Given the description of an element on the screen output the (x, y) to click on. 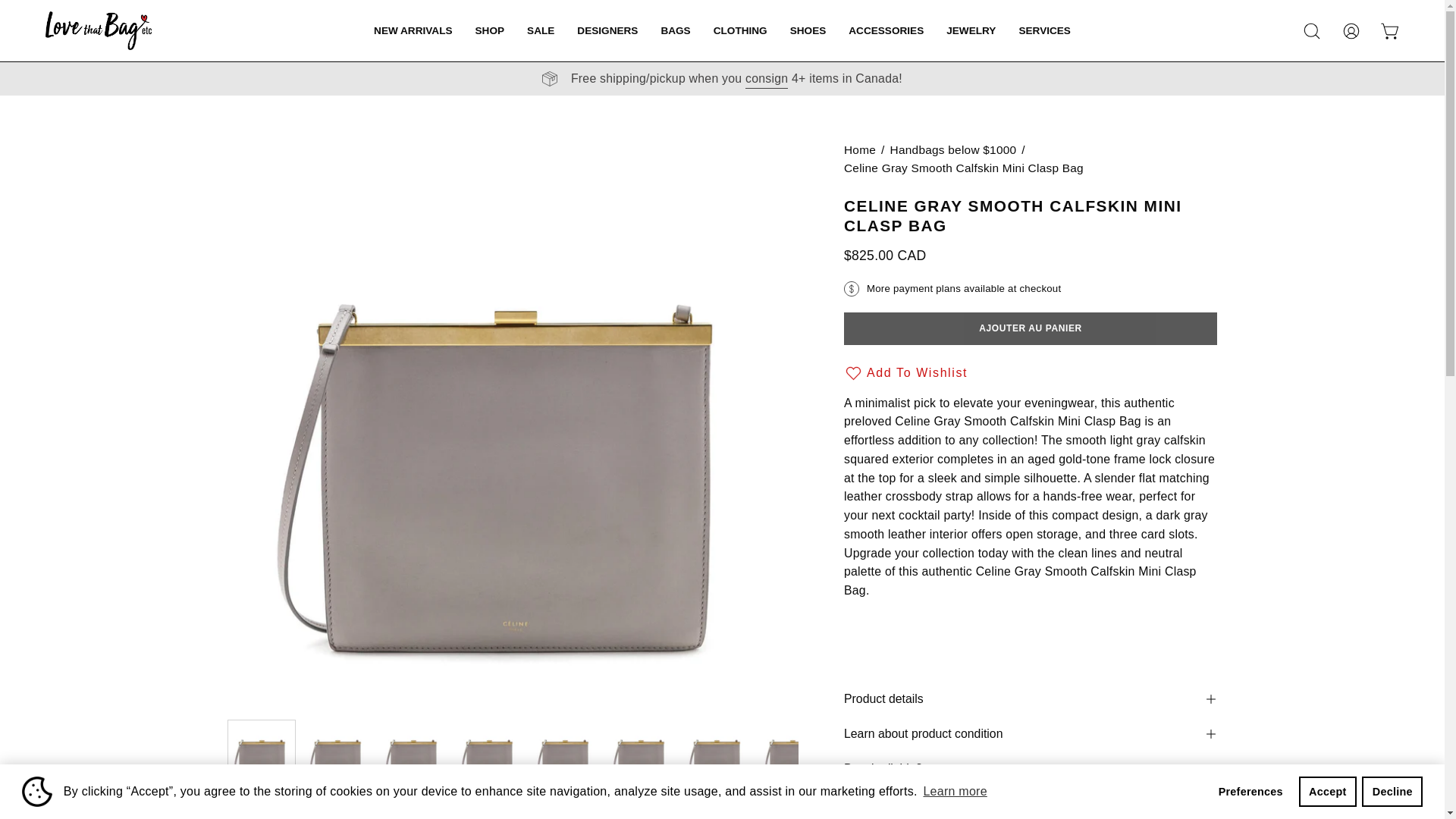
Retour a la page d'acceuil (860, 149)
Learn more (955, 791)
Accept (1327, 791)
Decline (1391, 791)
Ouvrir la barre de recherche (1311, 30)
Preferences (1250, 791)
Learn about luxury consignment in Canada (766, 78)
